Given the description of an element on the screen output the (x, y) to click on. 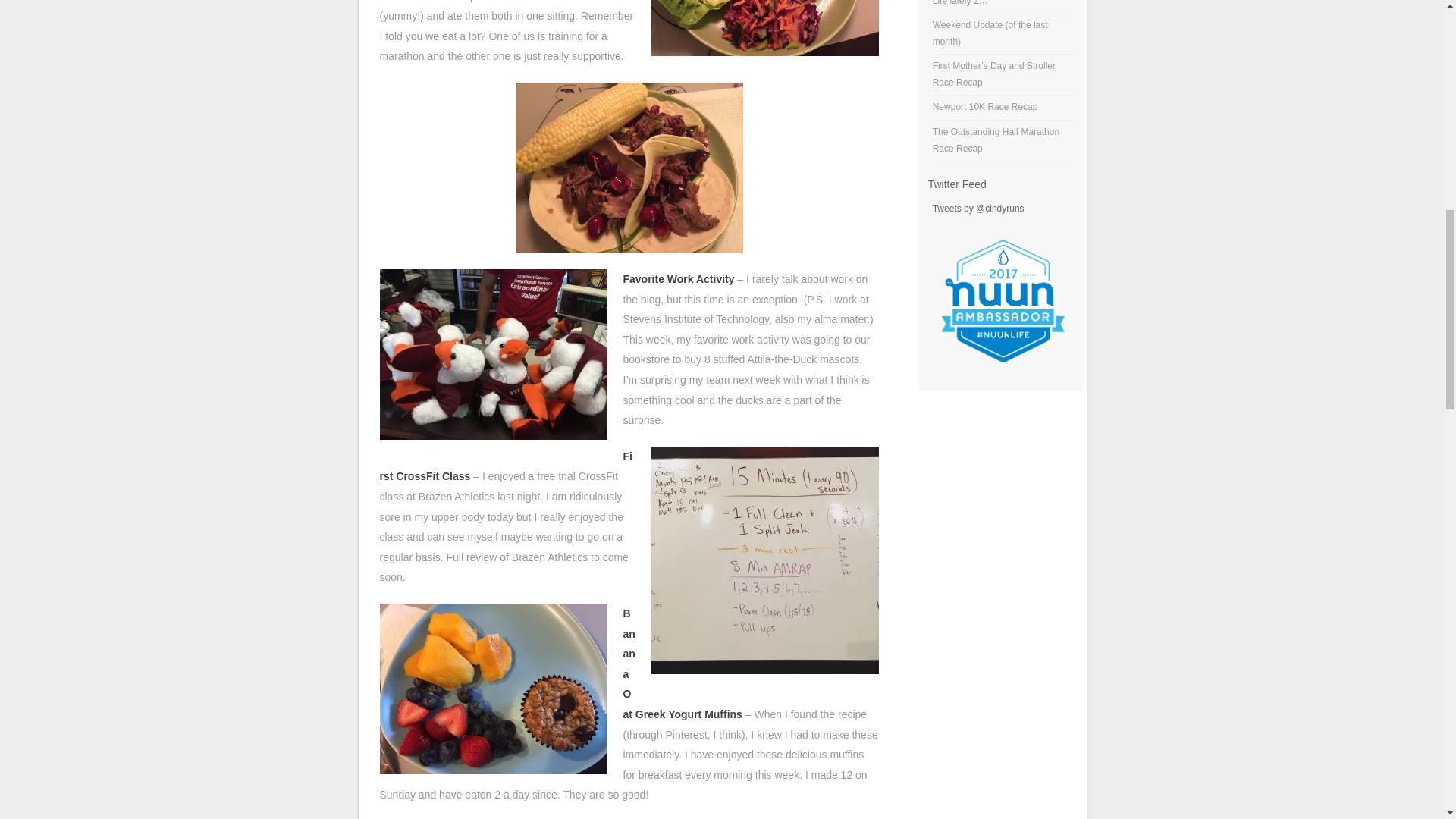
Banana Oat Greek Yogurt Muffins (682, 663)
First CrossFit Class (504, 466)
Favorite Work Activity (679, 278)
